Given the description of an element on the screen output the (x, y) to click on. 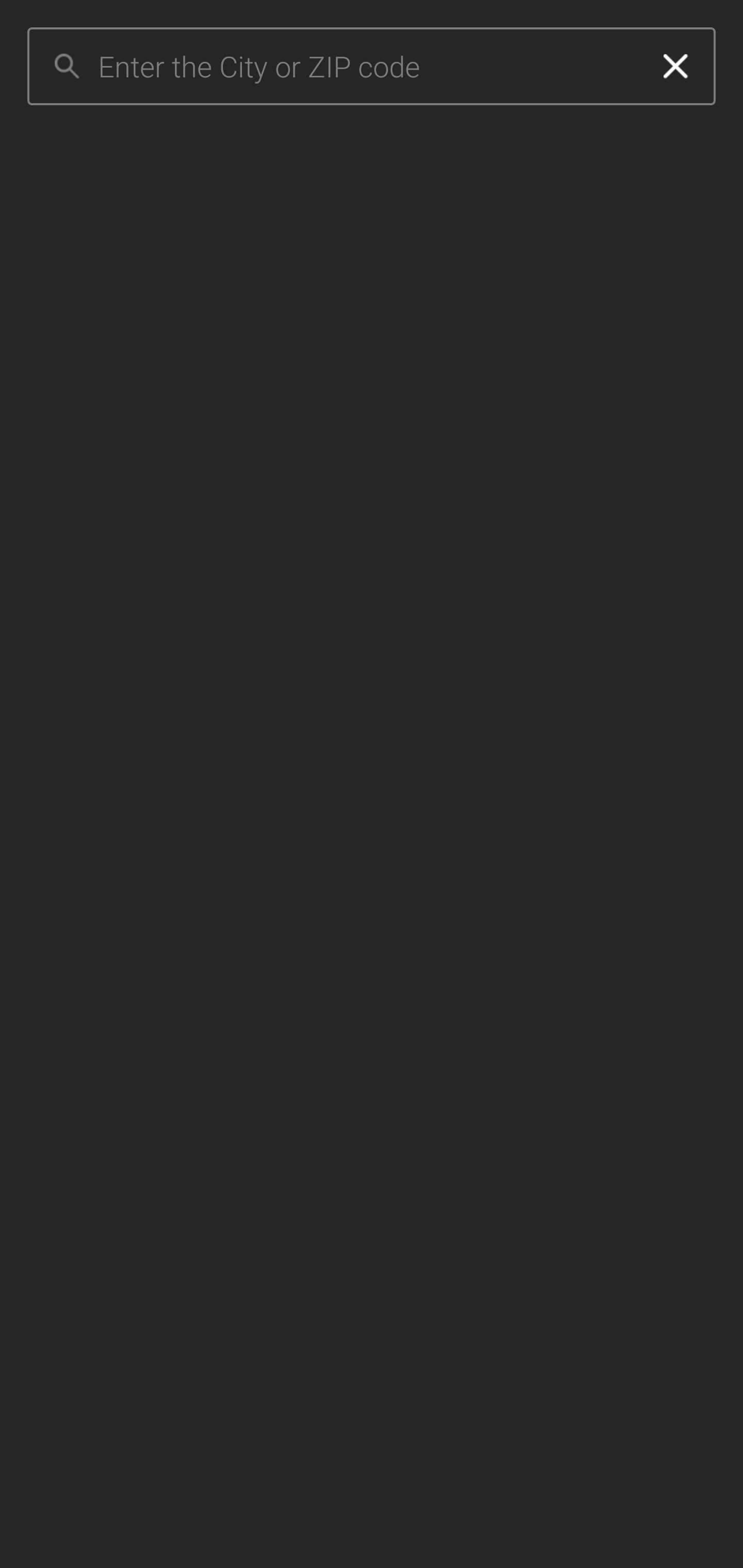
Enter the City or ZIP code (367, 66)
